Given the description of an element on the screen output the (x, y) to click on. 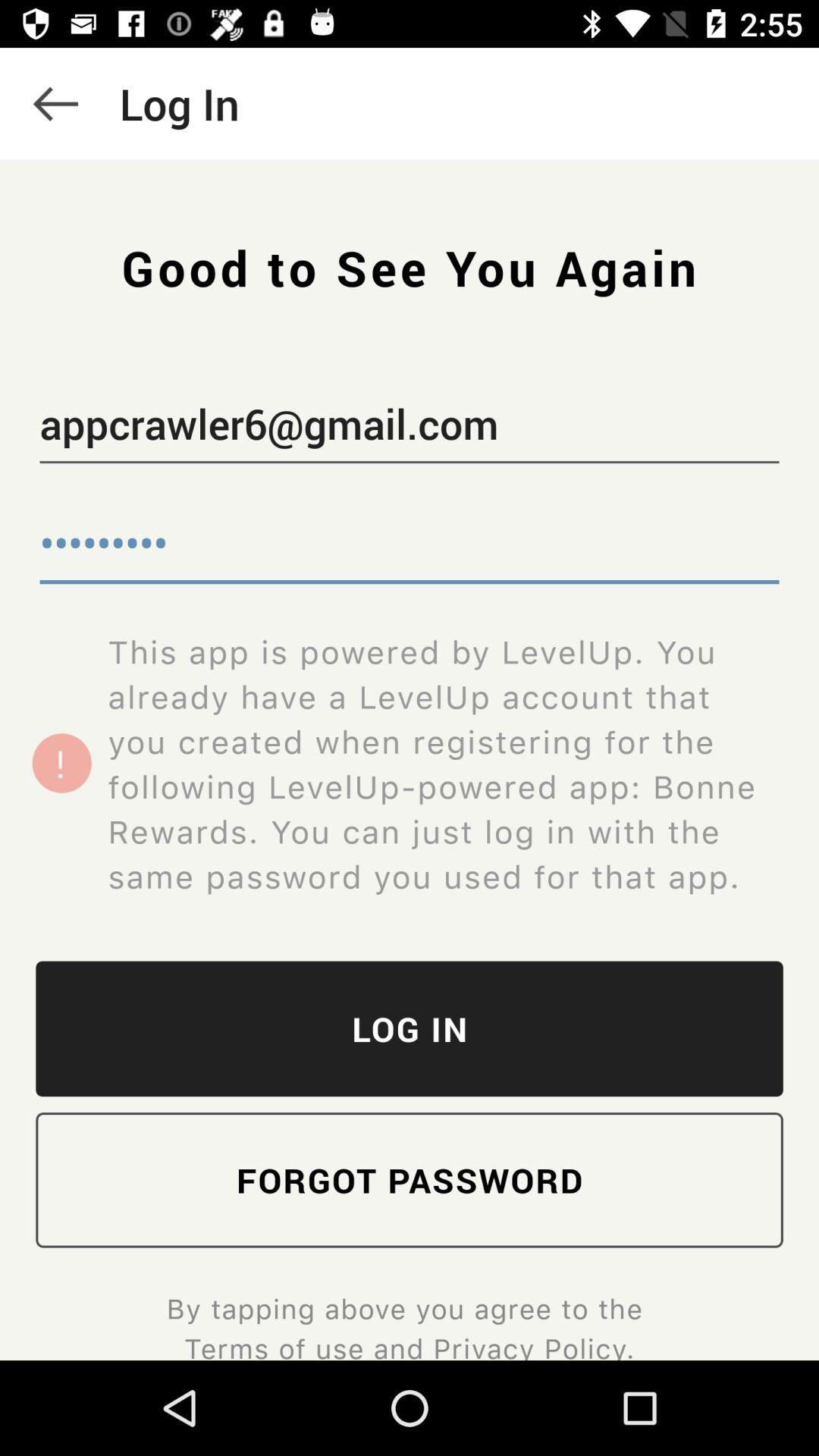
click icon above the by tapping above item (409, 1179)
